Given the description of an element on the screen output the (x, y) to click on. 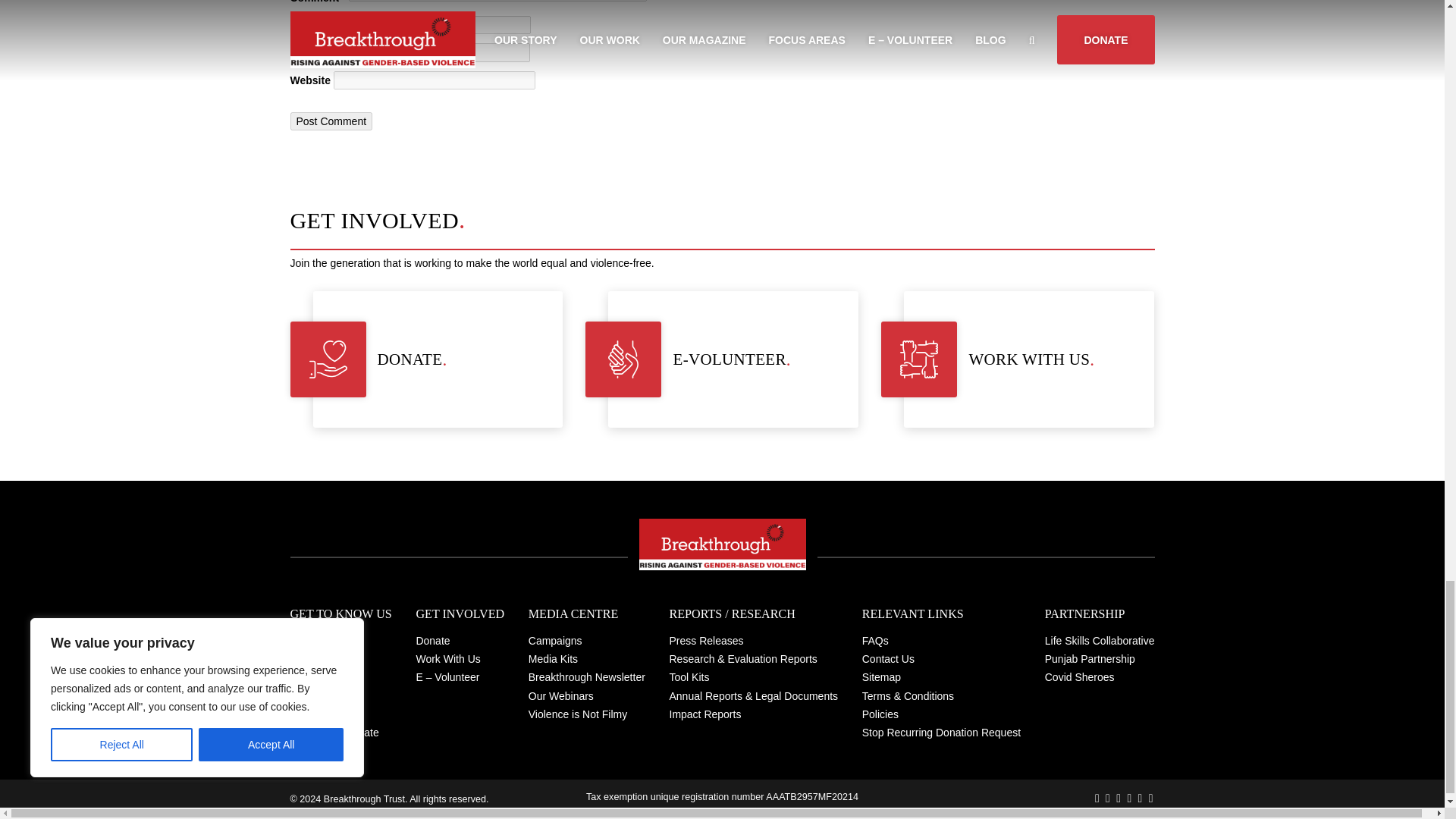
Post Comment (330, 121)
